Given the description of an element on the screen output the (x, y) to click on. 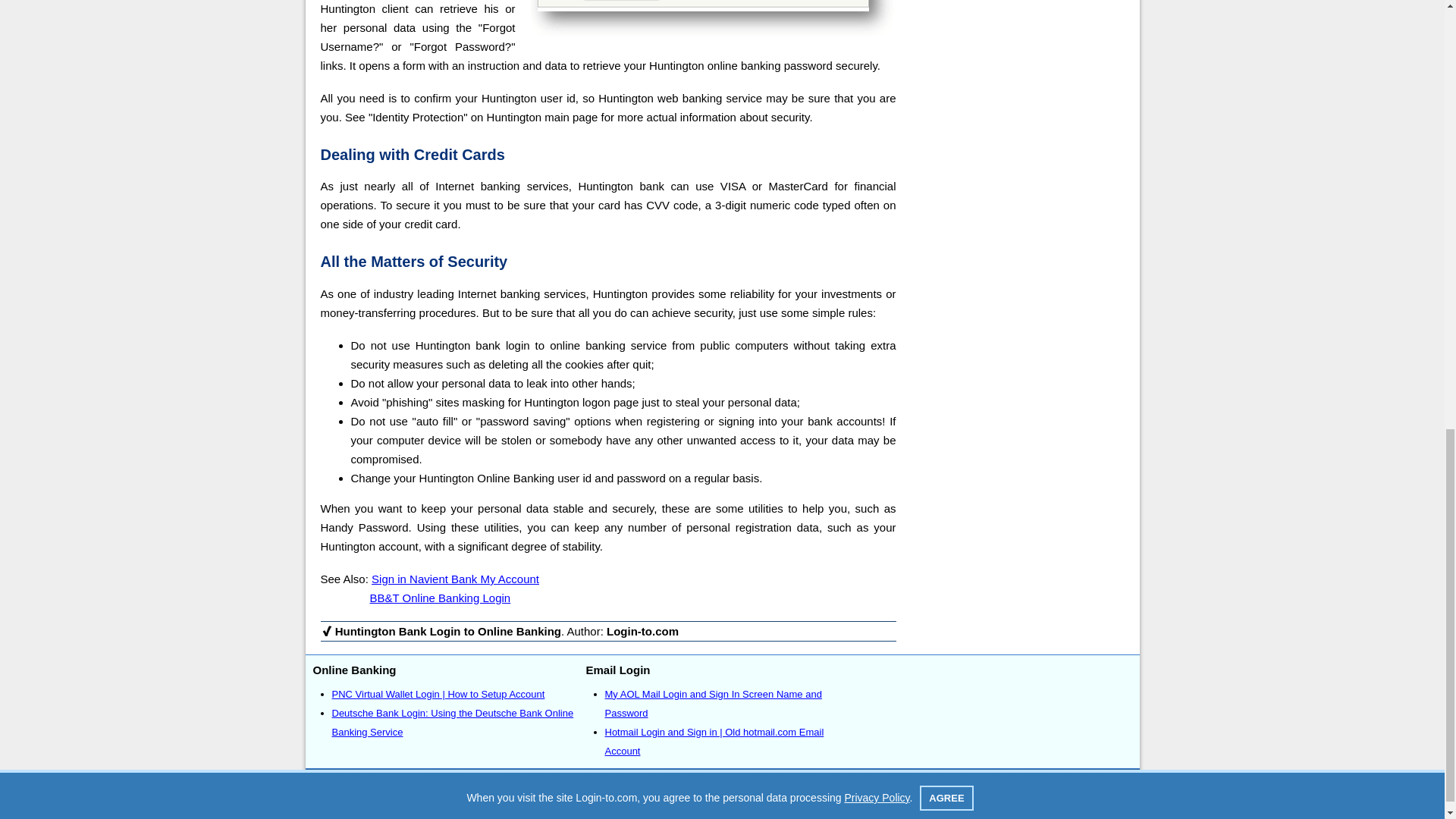
My AOL Mail Login and Sign In Screen Name and Password (713, 703)
Sign in Navient Bank My Account (454, 578)
Sitemap (721, 787)
Privacy Policy (856, 806)
Privacy Policy (856, 806)
